Given the description of an element on the screen output the (x, y) to click on. 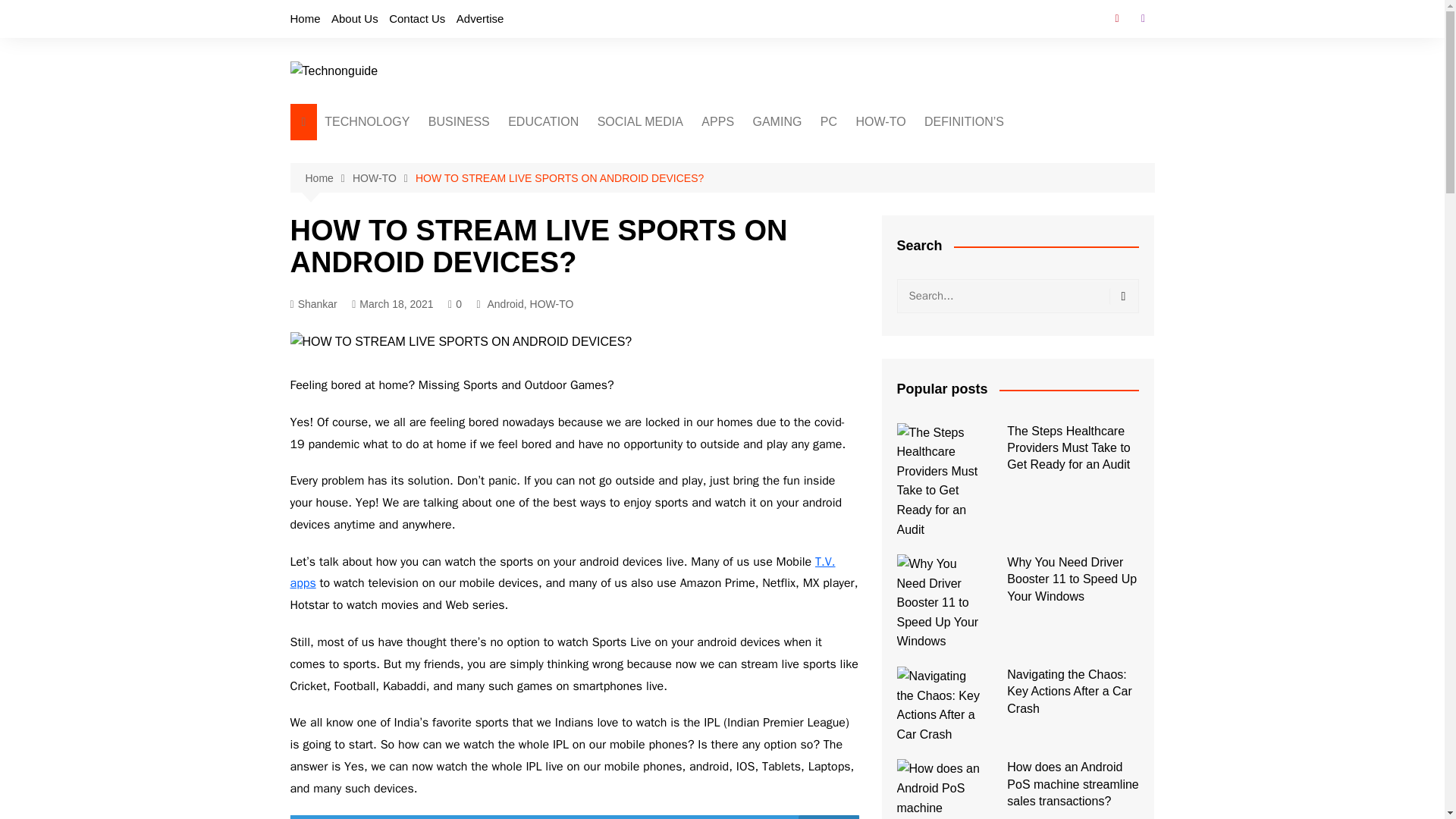
CRYPTOCURRENCY (671, 152)
GADGETS (400, 190)
Facebook (1116, 18)
MAC (895, 177)
Twitter (1142, 18)
iOS (566, 265)
BUSINESS (458, 122)
HOW-TO (881, 122)
APPS (717, 122)
Contact Us (416, 18)
ARTIFICIAL INTELLIGENCE (400, 159)
INTERNET (827, 177)
TRAVEL (827, 202)
SOCIAL MEDIA (639, 122)
ANDROID (566, 240)
